Given the description of an element on the screen output the (x, y) to click on. 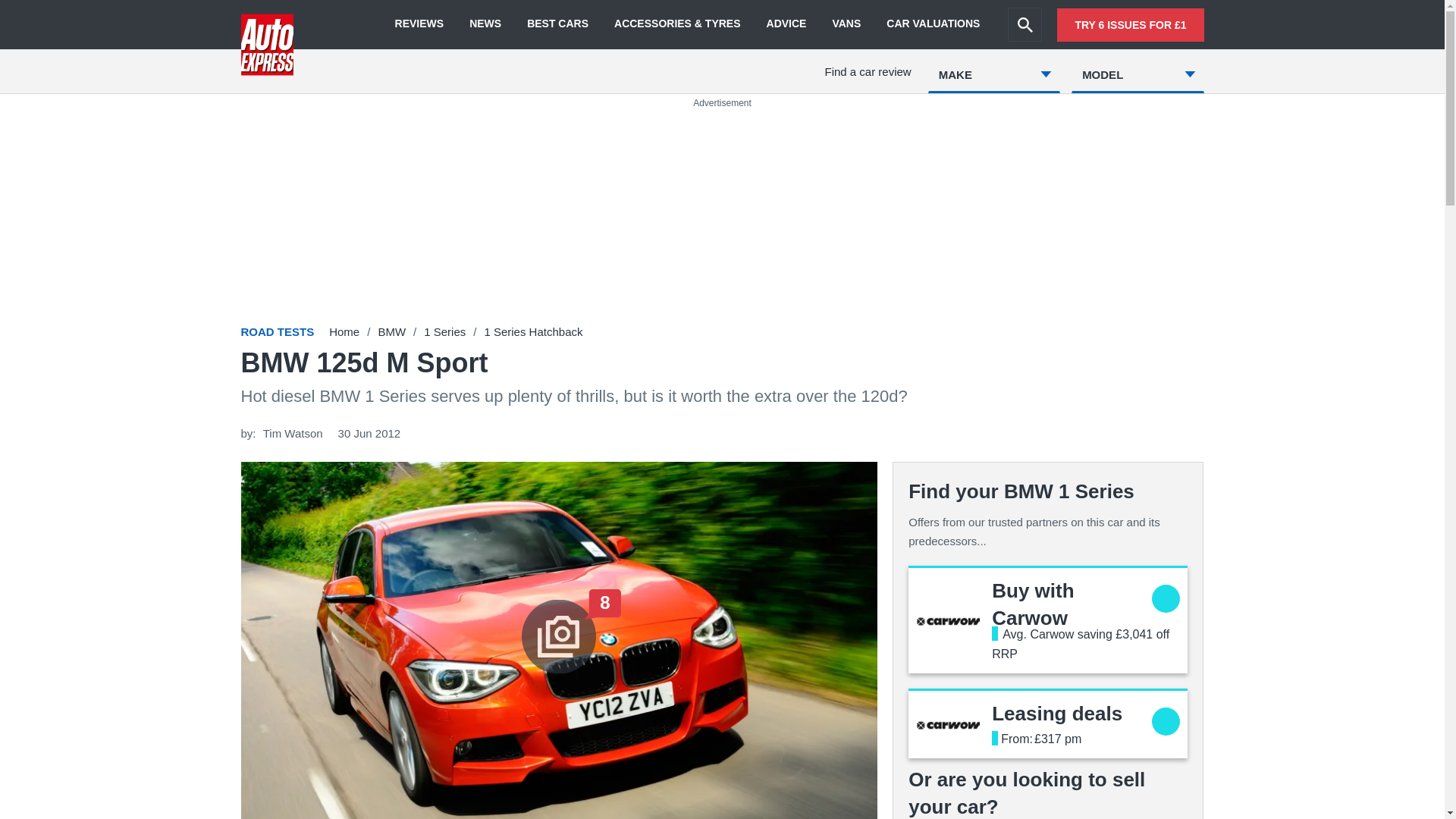
3rd party ad content (1032, 604)
REVIEWS (444, 331)
3rd party ad content (1056, 712)
BMW (419, 24)
8 (391, 331)
VANS (1024, 24)
